Given the description of an element on the screen output the (x, y) to click on. 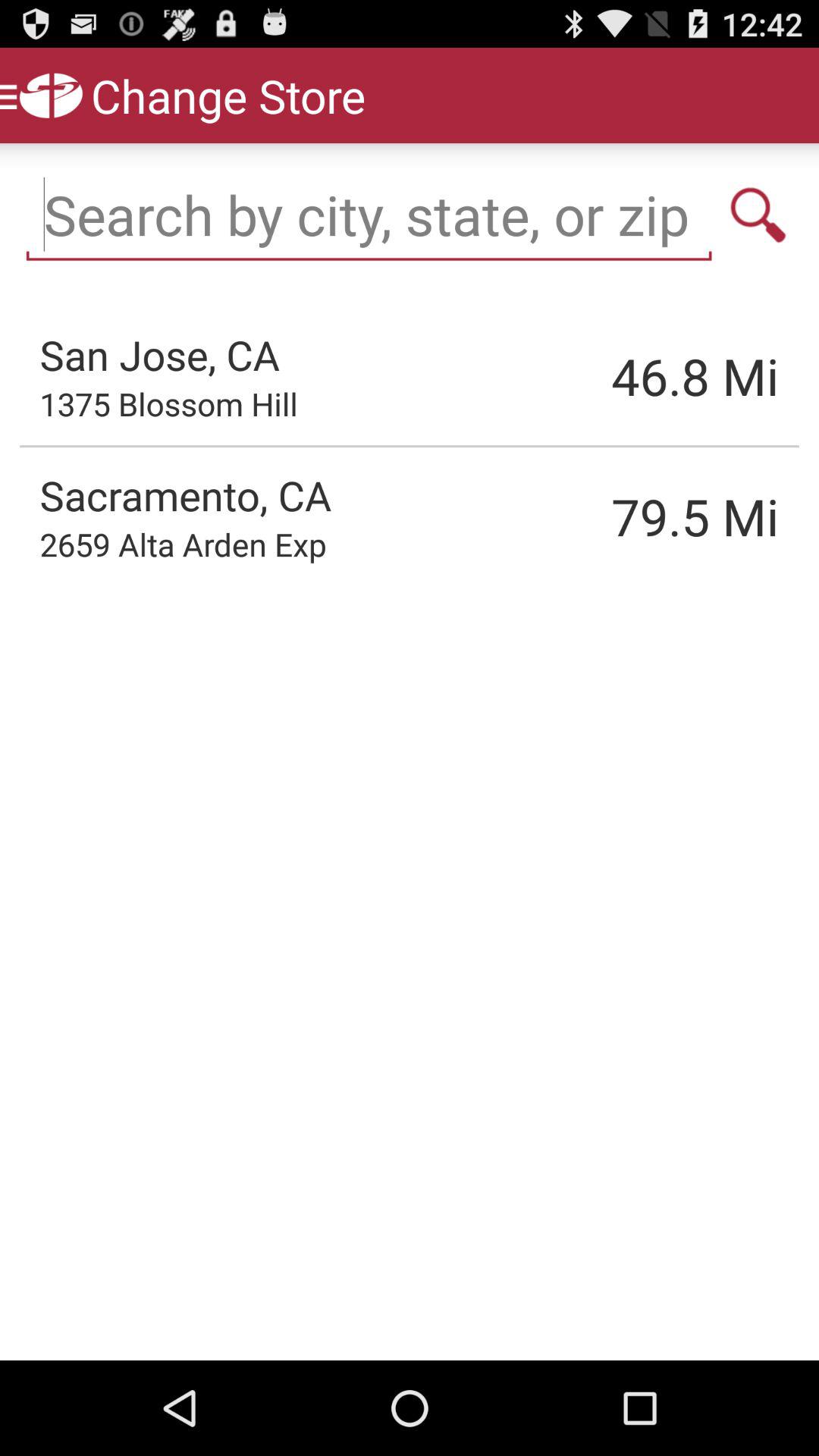
turn off item to the left of the  mi item (617, 376)
